Given the description of an element on the screen output the (x, y) to click on. 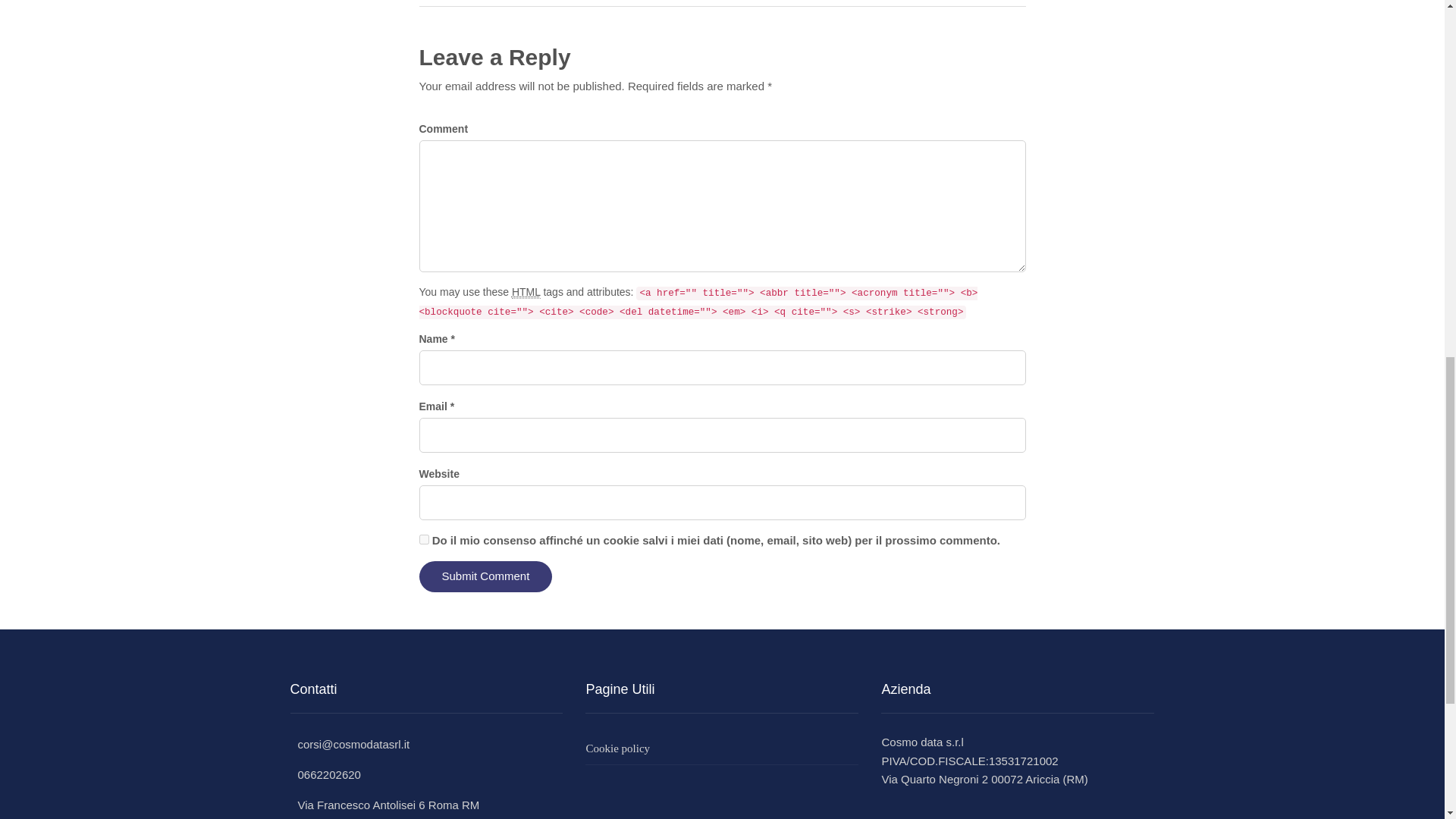
yes (423, 539)
Submit Comment (485, 576)
HyperText Markup Language (526, 291)
Submit Comment (485, 576)
Via Francesco Antolisei 6 Roma RM (384, 804)
Cookie policy (722, 748)
